Given the description of an element on the screen output the (x, y) to click on. 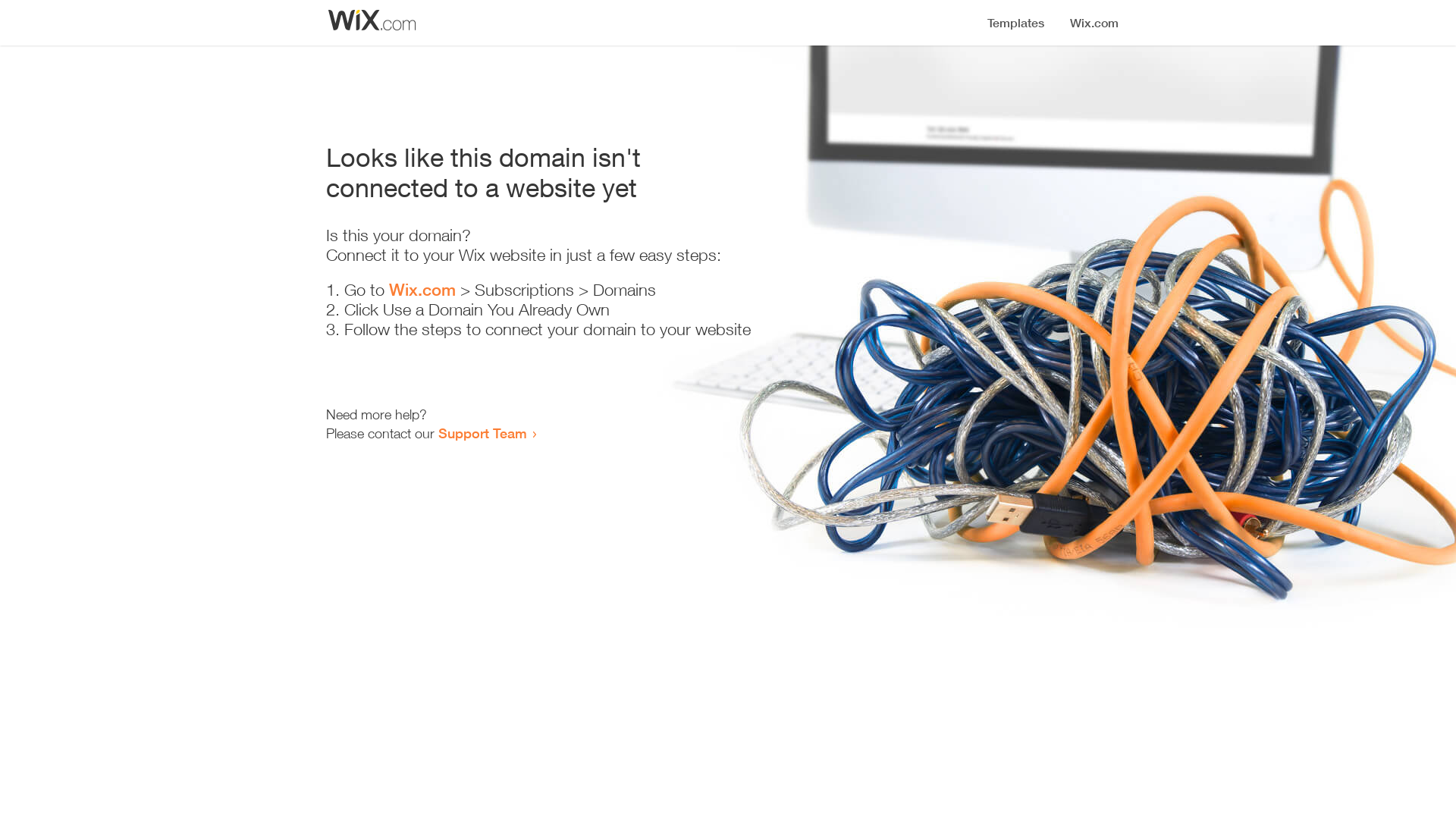
Wix.com Element type: text (422, 289)
Support Team Element type: text (482, 432)
